Given the description of an element on the screen output the (x, y) to click on. 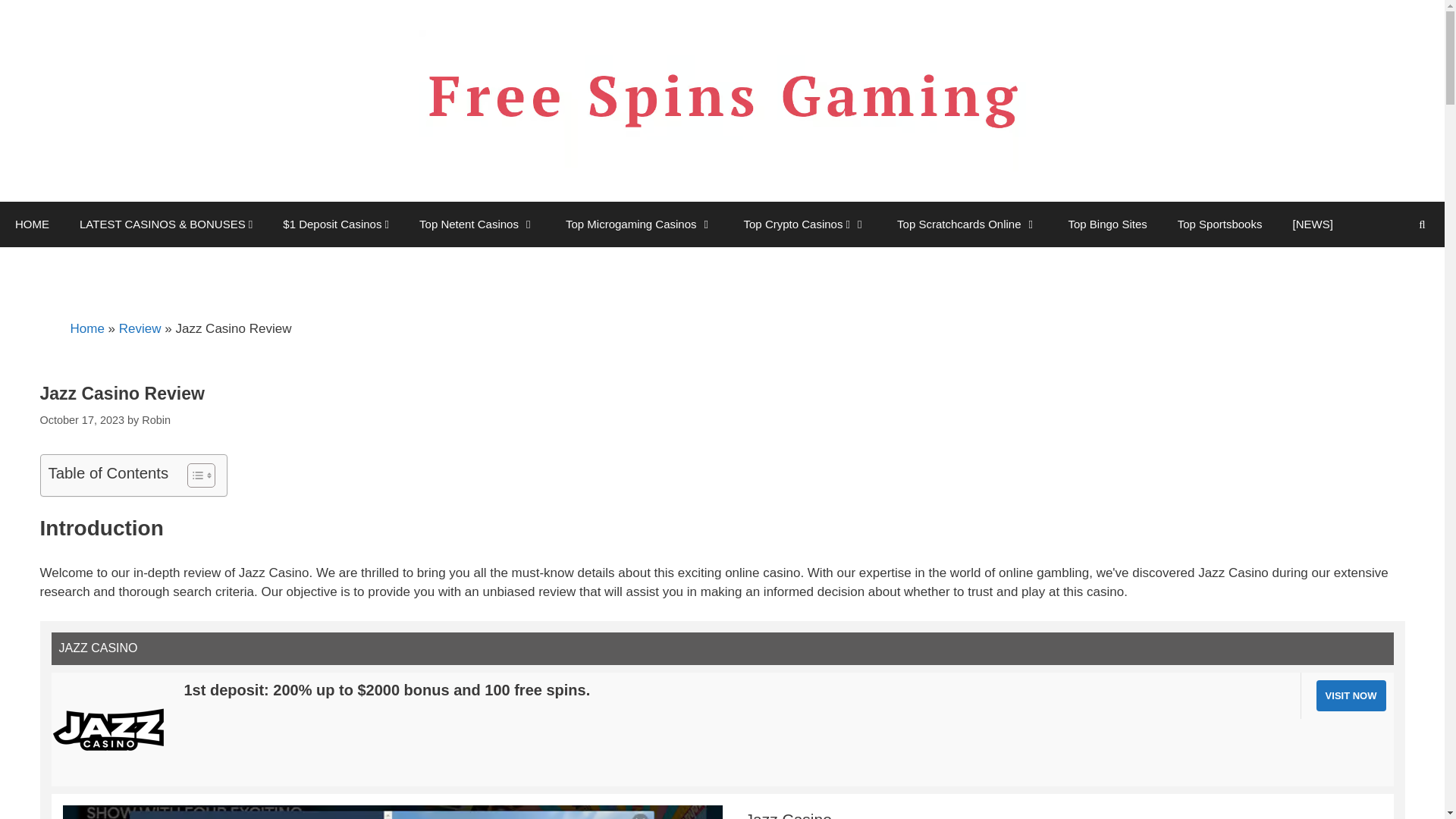
HOME (32, 224)
Top Microgaming Casinos (639, 224)
View all posts by Robin (155, 419)
Top Netent Casinos (477, 224)
